Given the description of an element on the screen output the (x, y) to click on. 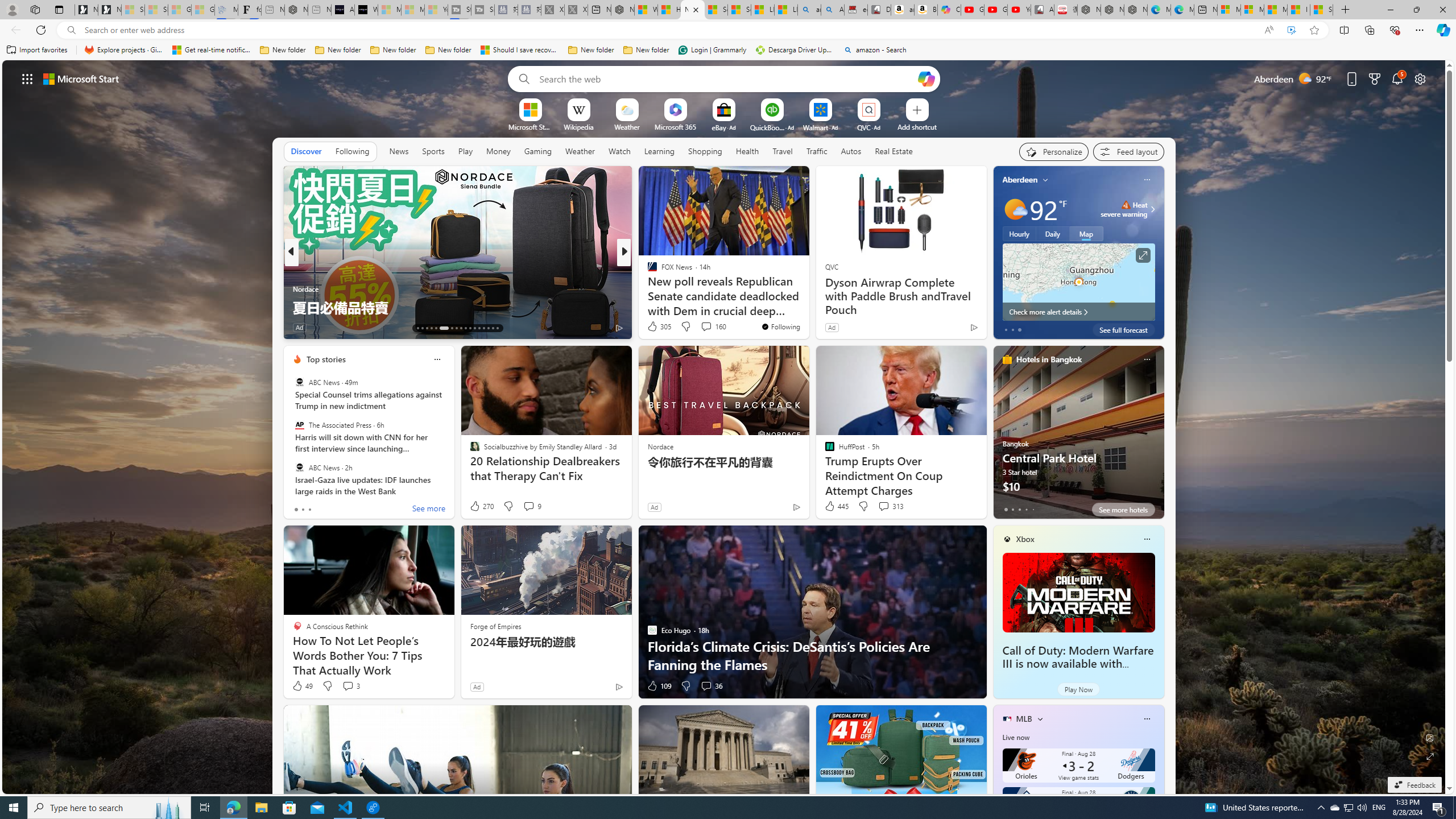
Expand background (1430, 756)
tab-1 (1012, 509)
Gaming (537, 151)
Open Copilot (926, 78)
See more (795, 179)
Weather (580, 151)
Gloom - YouTube (995, 9)
View comments 26 Comment (698, 327)
Eat This, Not That! (647, 288)
Microsoft Start Sports - Sleeping (389, 9)
